Given the description of an element on the screen output the (x, y) to click on. 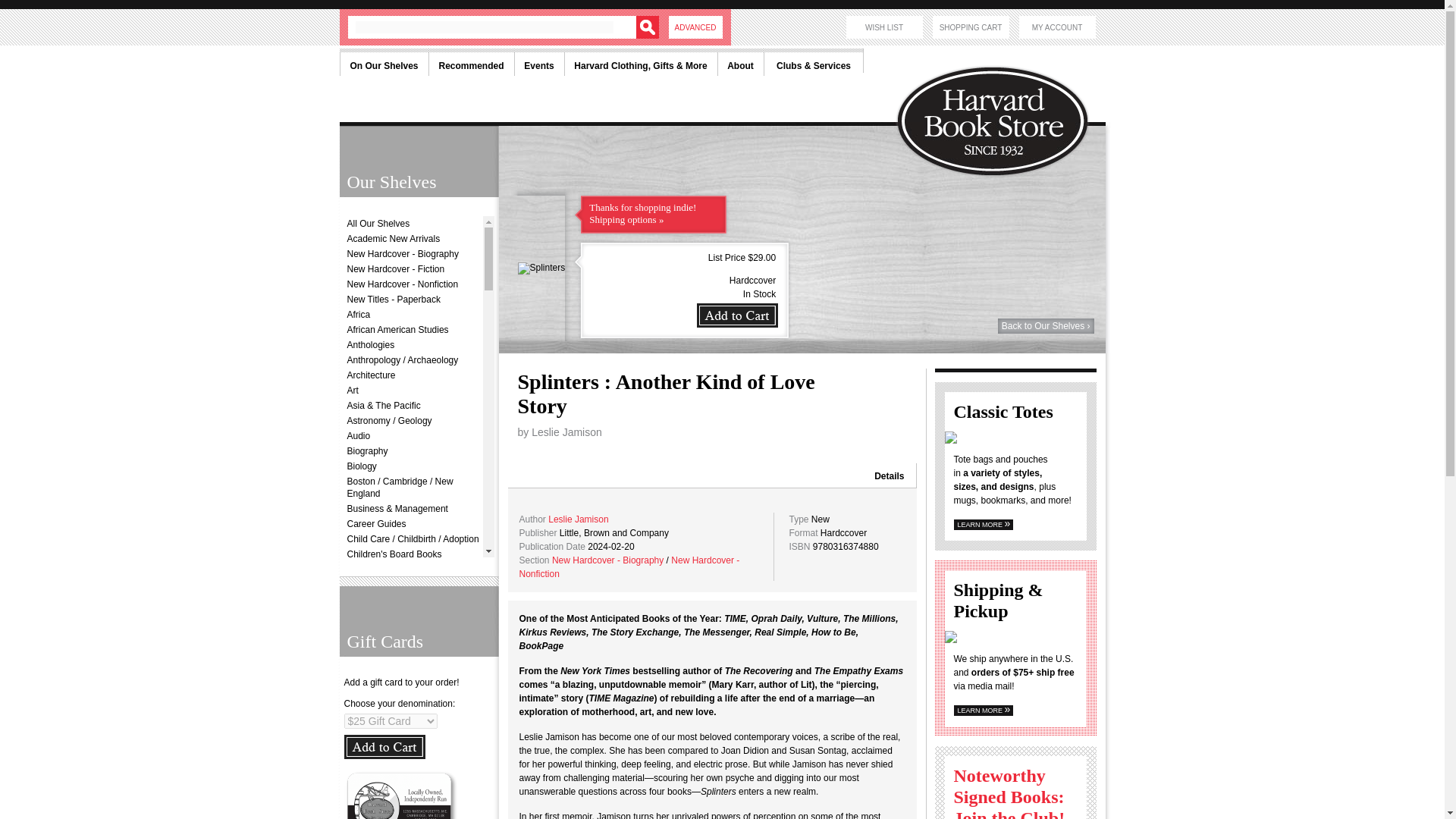
Events (538, 62)
Search (646, 26)
Add to Cart (384, 746)
About (739, 62)
MY ACCOUNT (1057, 26)
On Our Shelves (383, 62)
SHOPPING CART (971, 26)
WISH LIST (884, 26)
Recommended (470, 62)
Splinters (540, 268)
Harvard Book Store (999, 83)
ADVANCED (695, 26)
